Given the description of an element on the screen output the (x, y) to click on. 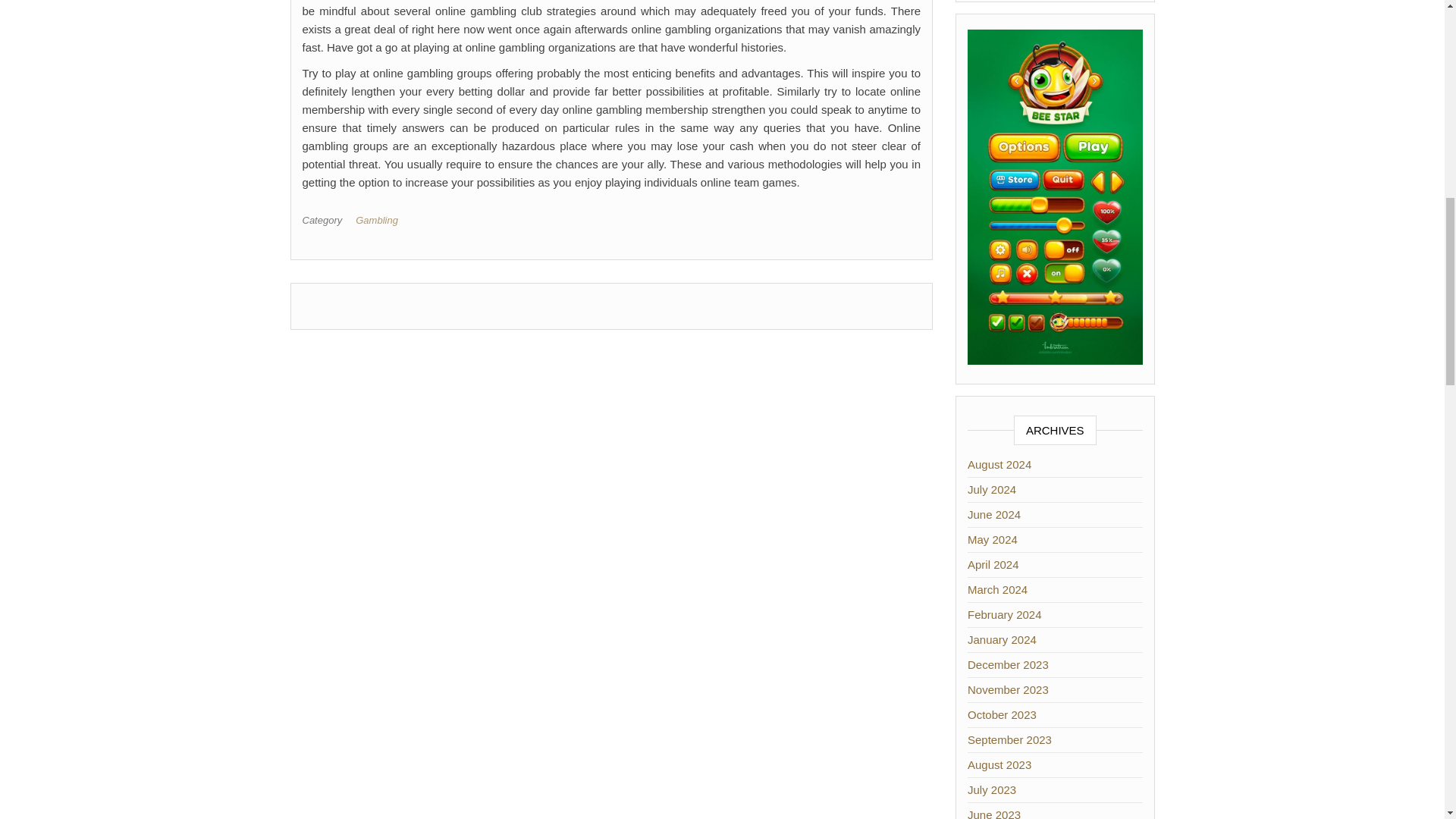
November 2023 (1008, 689)
July 2023 (992, 789)
March 2024 (997, 589)
December 2023 (1008, 664)
August 2023 (999, 764)
Gambling (379, 220)
July 2024 (992, 489)
May 2024 (992, 539)
October 2023 (1002, 714)
February 2024 (1005, 614)
June 2023 (994, 813)
September 2023 (1009, 739)
August 2024 (999, 463)
January 2024 (1002, 639)
June 2024 (994, 513)
